Given the description of an element on the screen output the (x, y) to click on. 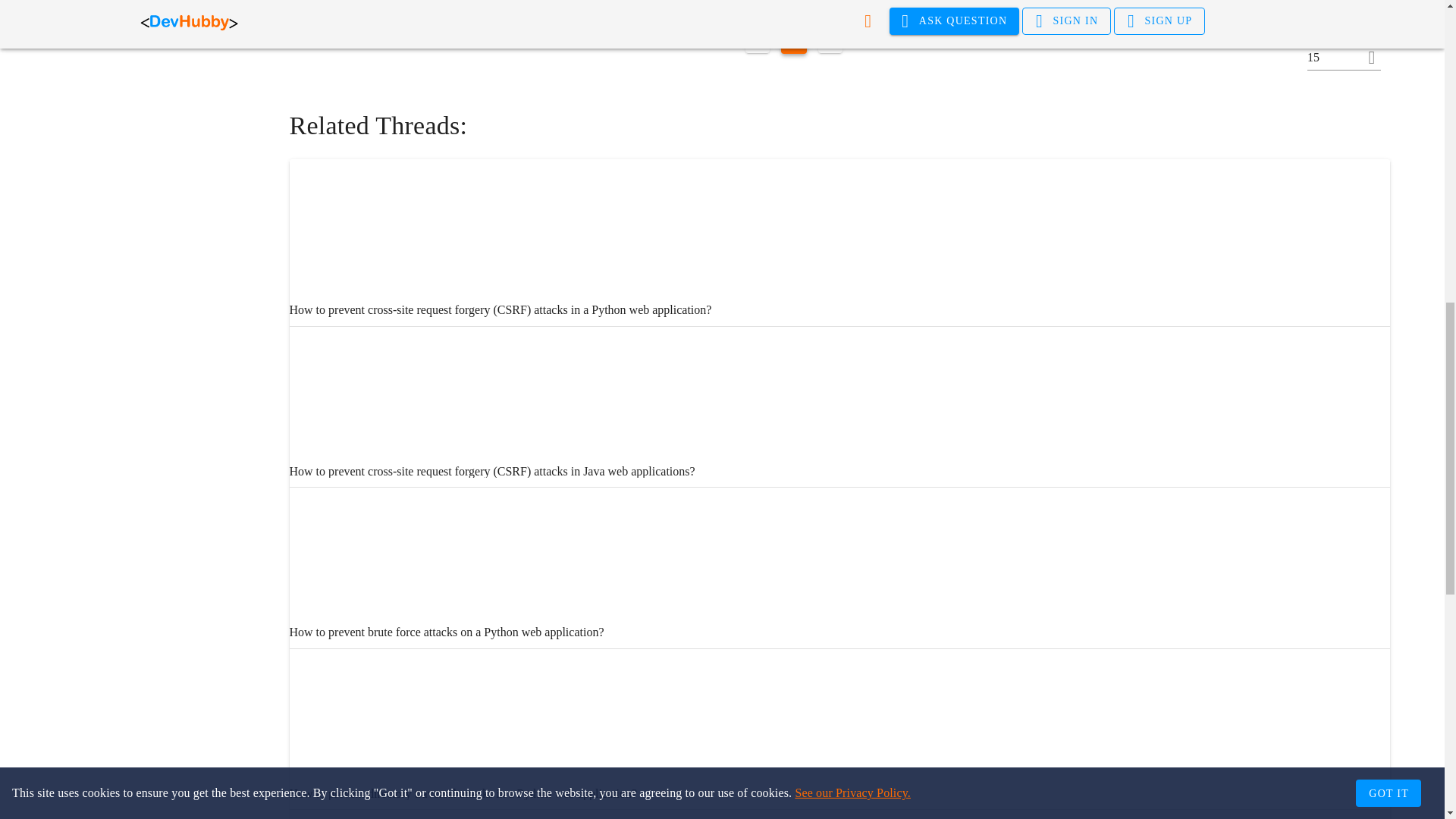
Advertisement (160, 8)
